Given the description of an element on the screen output the (x, y) to click on. 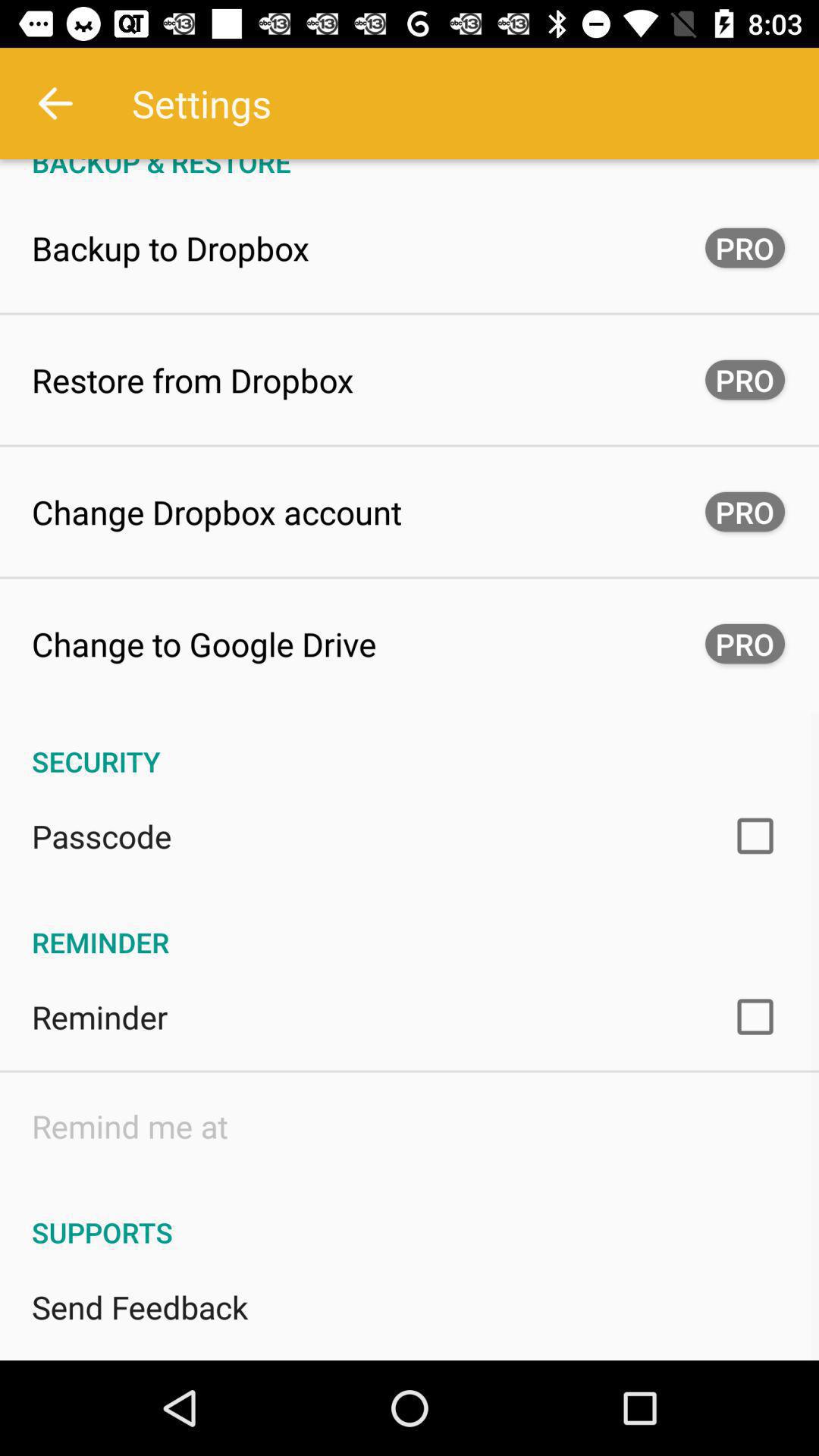
jump to the security (409, 745)
